Given the description of an element on the screen output the (x, y) to click on. 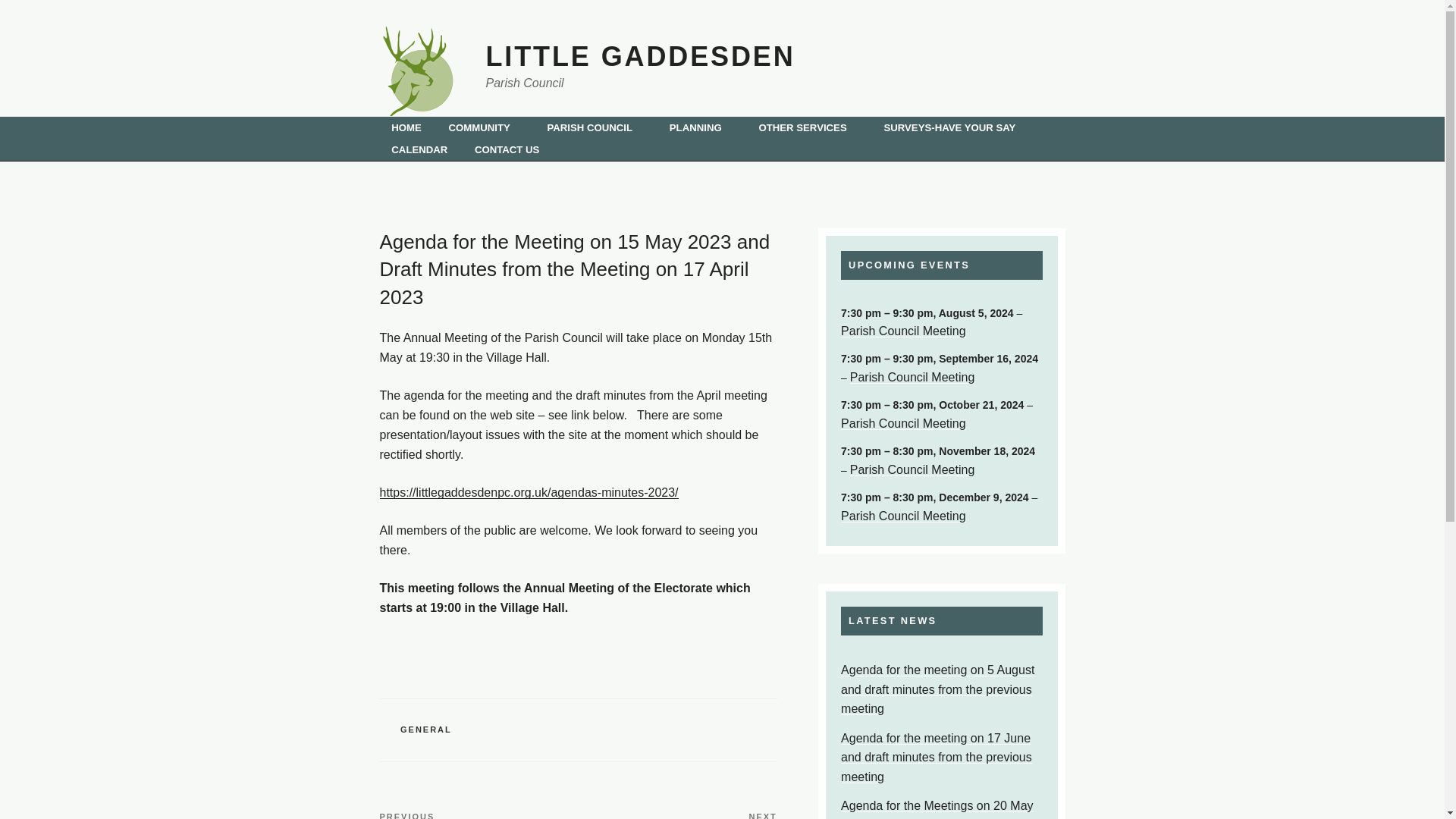
COMMUNITY (484, 127)
LITTLE GADDESDEN (639, 56)
PARISH COUNCIL (594, 127)
HOME (405, 127)
PLANNING (701, 127)
